Given the description of an element on the screen output the (x, y) to click on. 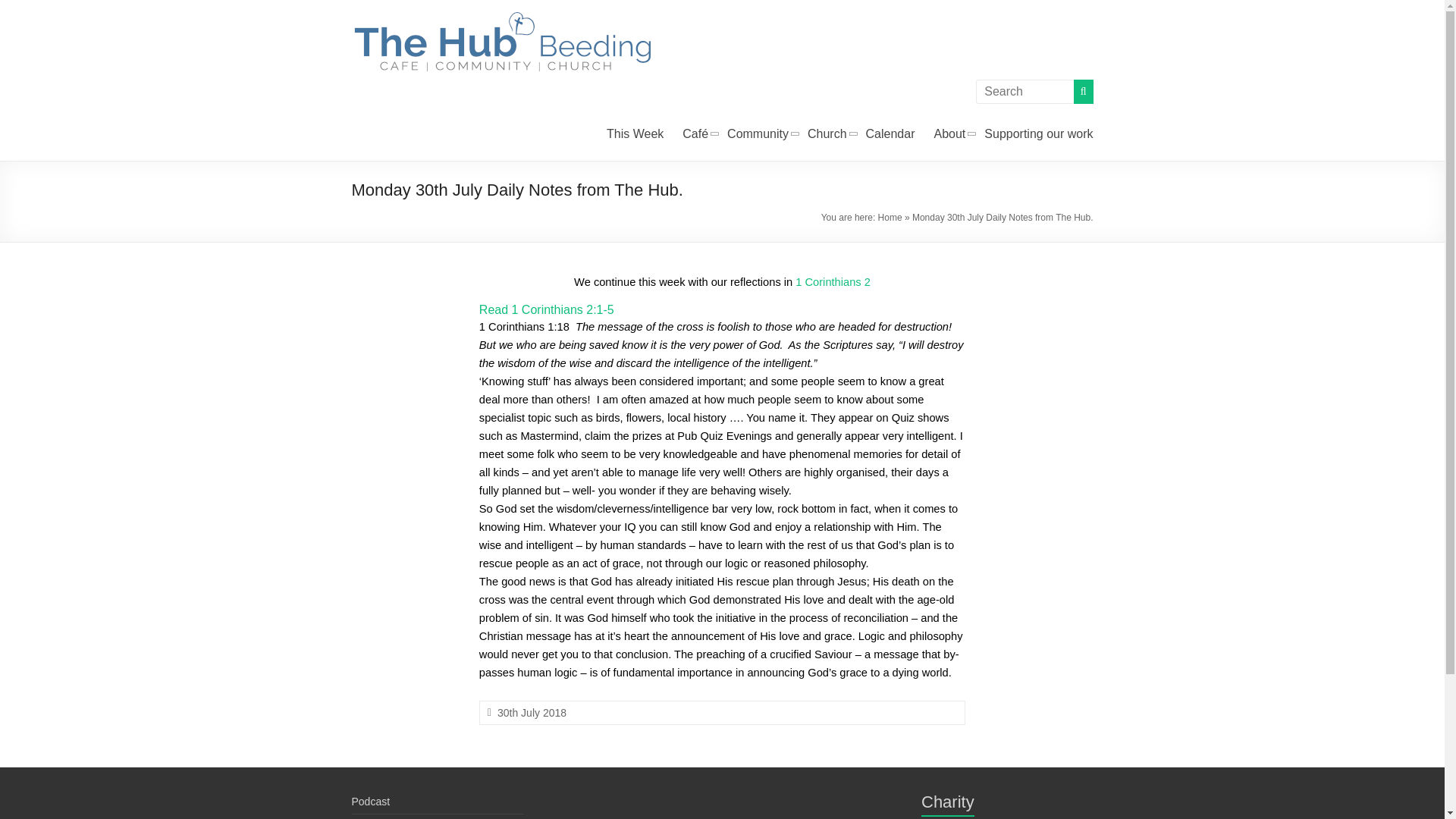
Community (757, 133)
5:00 am (531, 712)
The Hub, Beeding (399, 59)
Church (827, 133)
Calendar (890, 133)
The Hub, Beeding (399, 59)
About (950, 133)
This Week (635, 133)
